Given the description of an element on the screen output the (x, y) to click on. 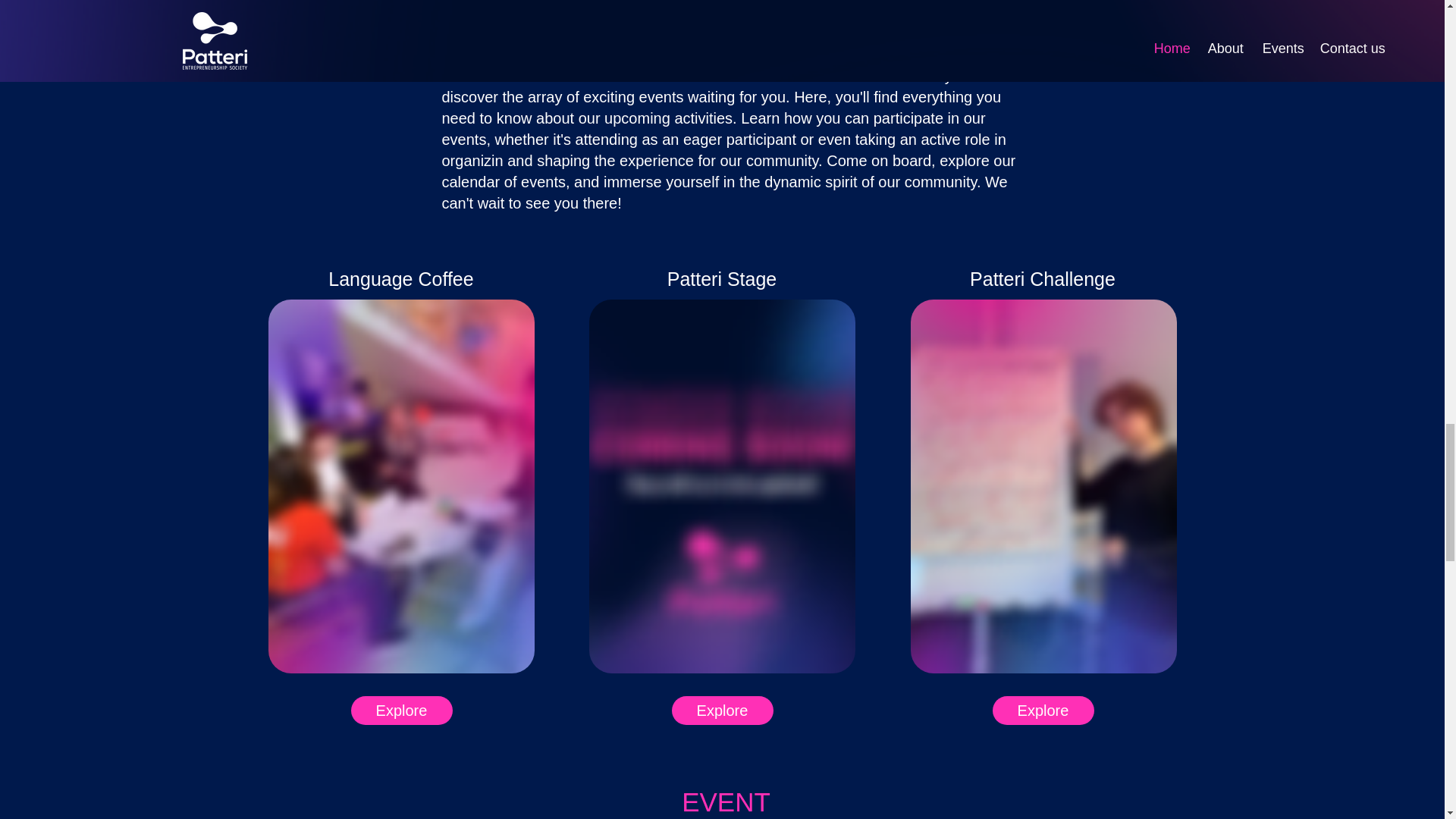
Explore (1042, 710)
Explore (400, 710)
Explore (722, 710)
